Given the description of an element on the screen output the (x, y) to click on. 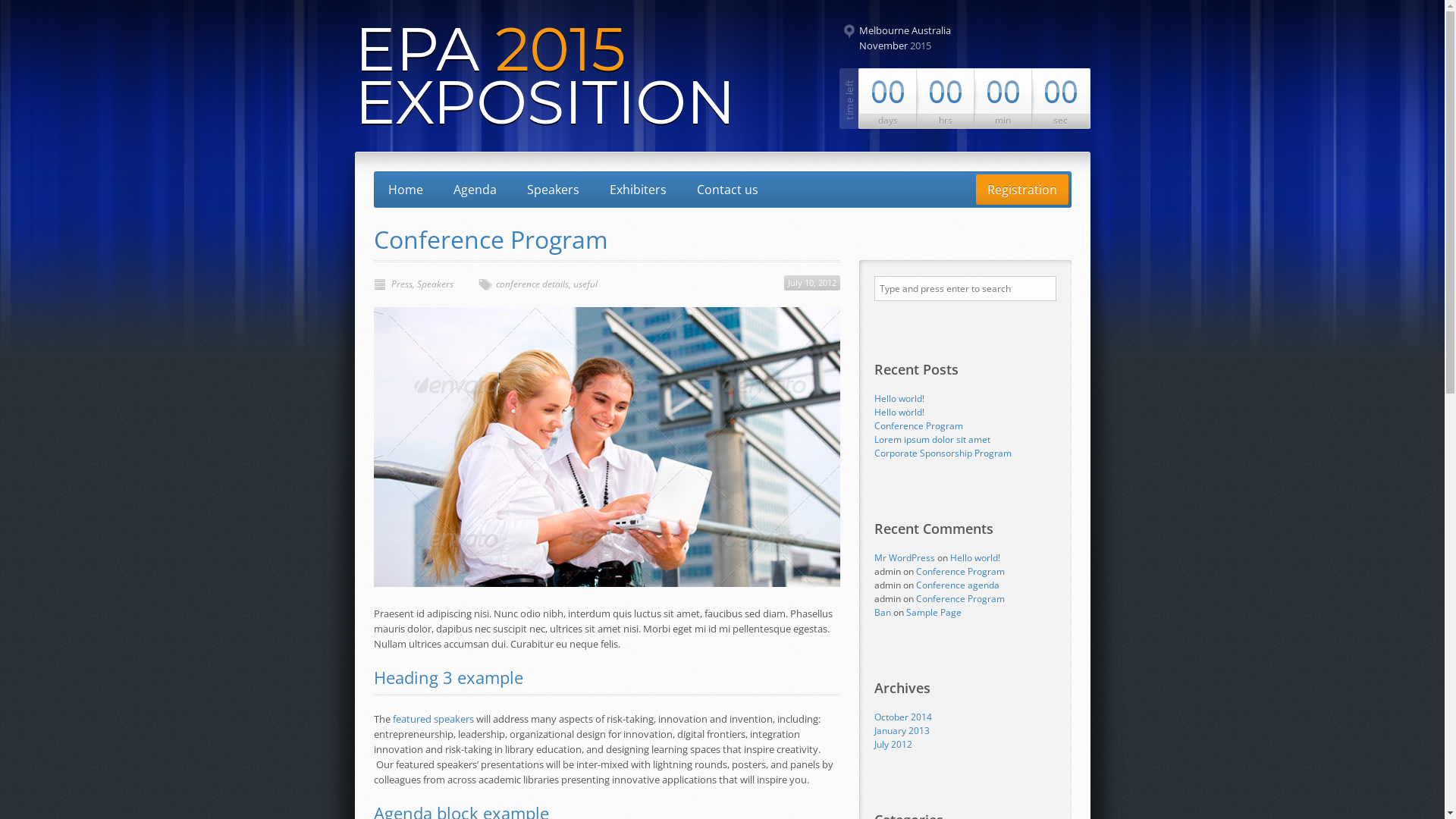
Conference agenda Element type: text (957, 584)
Mr WordPress Element type: text (903, 557)
EPA 2015
EXPOSITION Element type: text (544, 75)
Agenda Element type: text (474, 189)
Conference Program Element type: text (917, 425)
Melbourne Australia
November 2015 Element type: text (945, 37)
Speakers Element type: text (552, 189)
Exhibiters Element type: text (637, 189)
July 2012 Element type: text (892, 743)
Contact us Element type: text (727, 189)
featured speakers Element type: text (432, 718)
Speakers Element type: text (435, 283)
Hello world! Element type: text (898, 411)
Ban Element type: text (881, 611)
October 2014 Element type: text (902, 716)
Conference Program Element type: text (960, 570)
Lorem ipsum dolor sit amet Element type: text (931, 439)
Hello world! Element type: text (898, 398)
Registration Element type: text (1021, 189)
conference details Element type: text (531, 283)
Press Element type: text (401, 283)
useful Element type: text (585, 283)
Sample Page Element type: text (932, 611)
Home Element type: text (404, 189)
January 2013 Element type: text (900, 730)
Corporate Sponsorship Program Element type: text (941, 452)
Conference Program Element type: text (960, 598)
Hello world! Element type: text (974, 557)
